Given the description of an element on the screen output the (x, y) to click on. 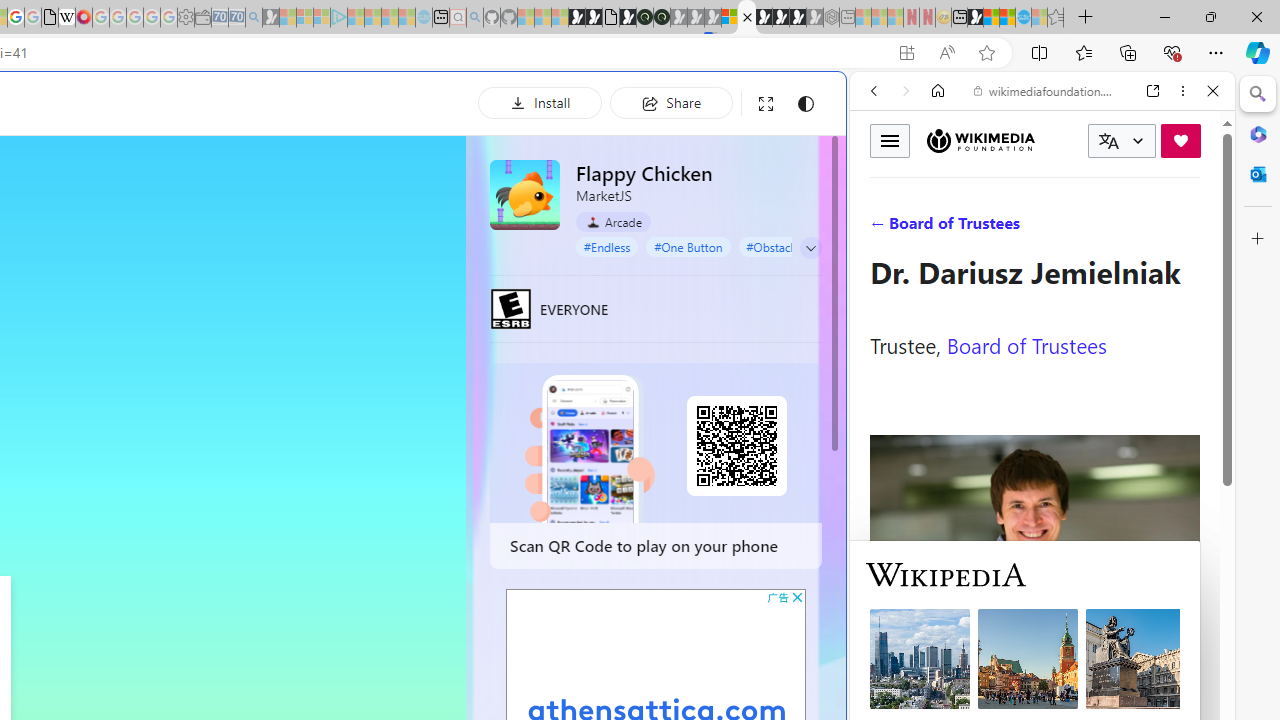
#Obstacle Course (792, 246)
App available. Install Flappy Chicken (906, 53)
Microsoft Start Gaming - Sleeping (270, 17)
